Given the description of an element on the screen output the (x, y) to click on. 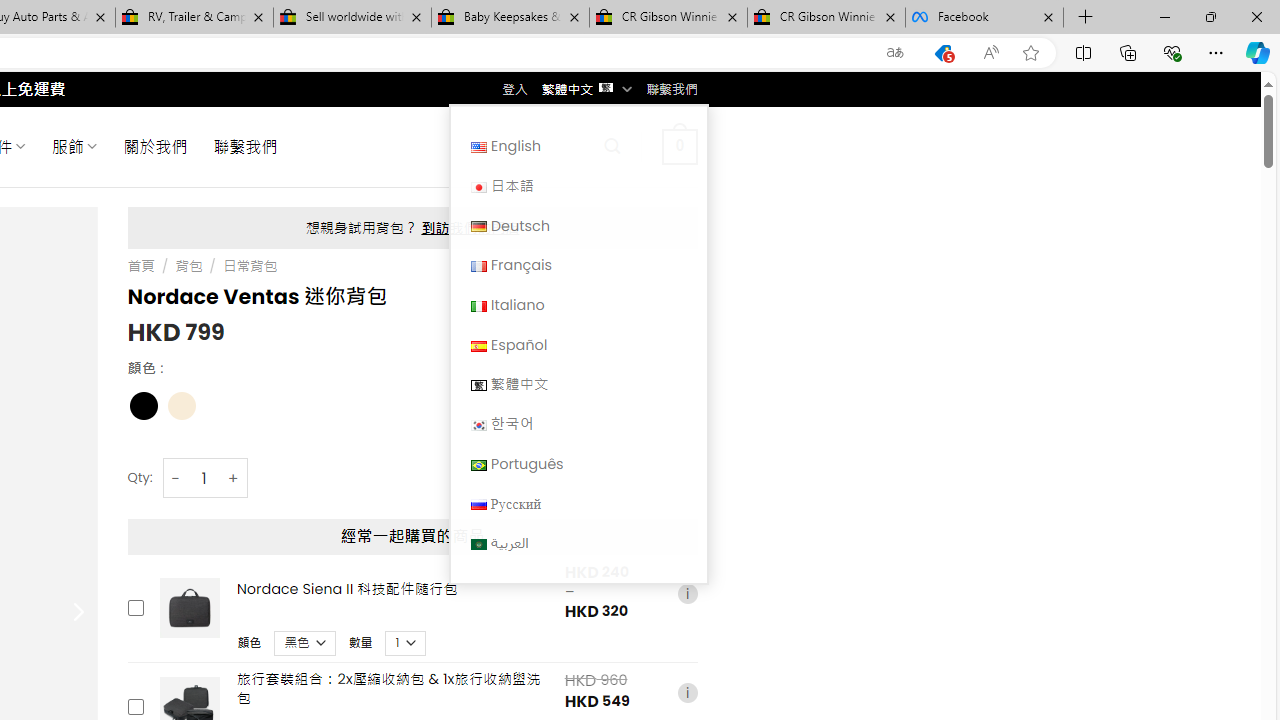
This site has coupons! Shopping in Microsoft Edge, 5 (943, 53)
i (687, 691)
